Given the description of an element on the screen output the (x, y) to click on. 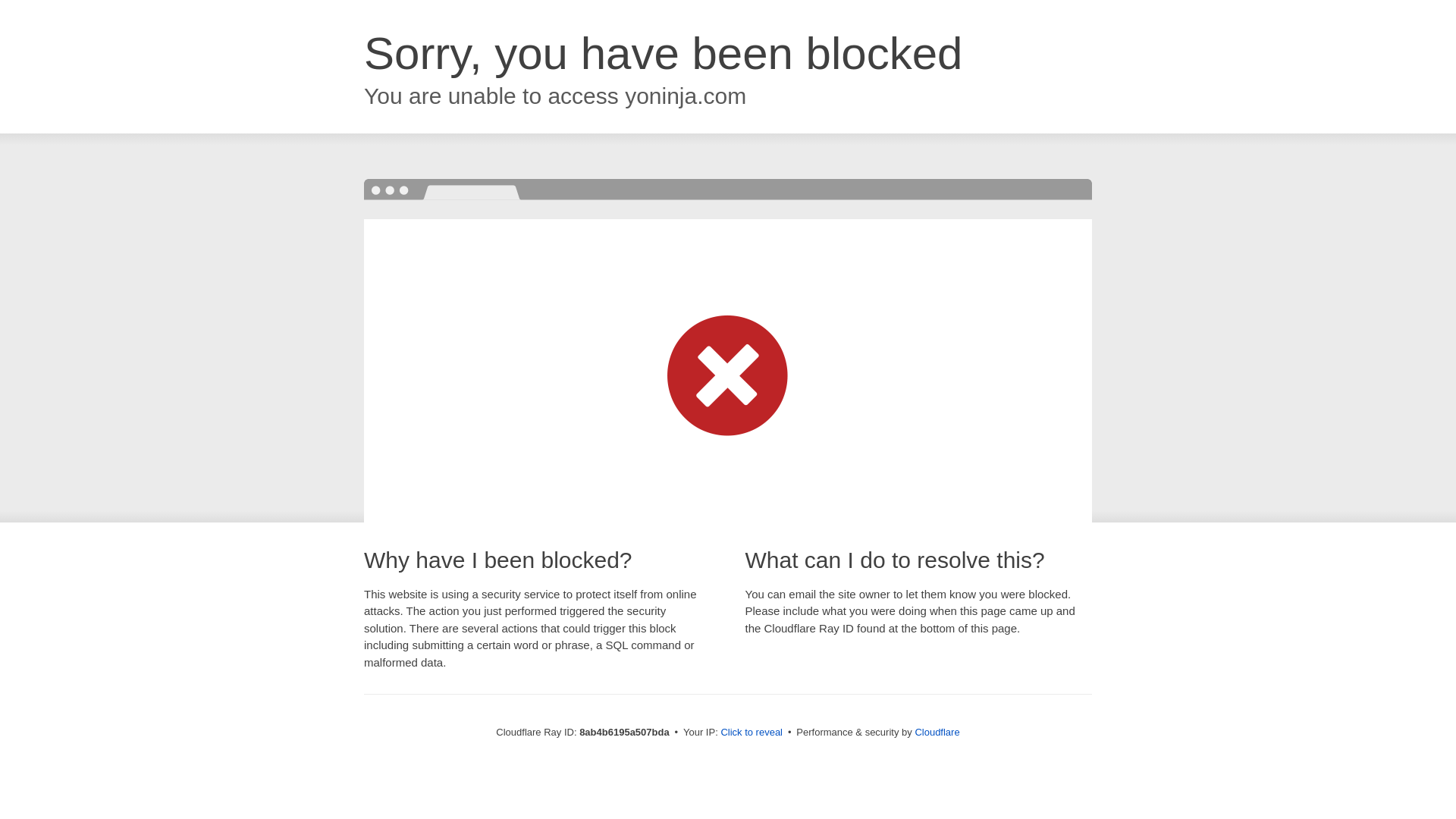
Cloudflare (936, 731)
Click to reveal (751, 732)
